Given the description of an element on the screen output the (x, y) to click on. 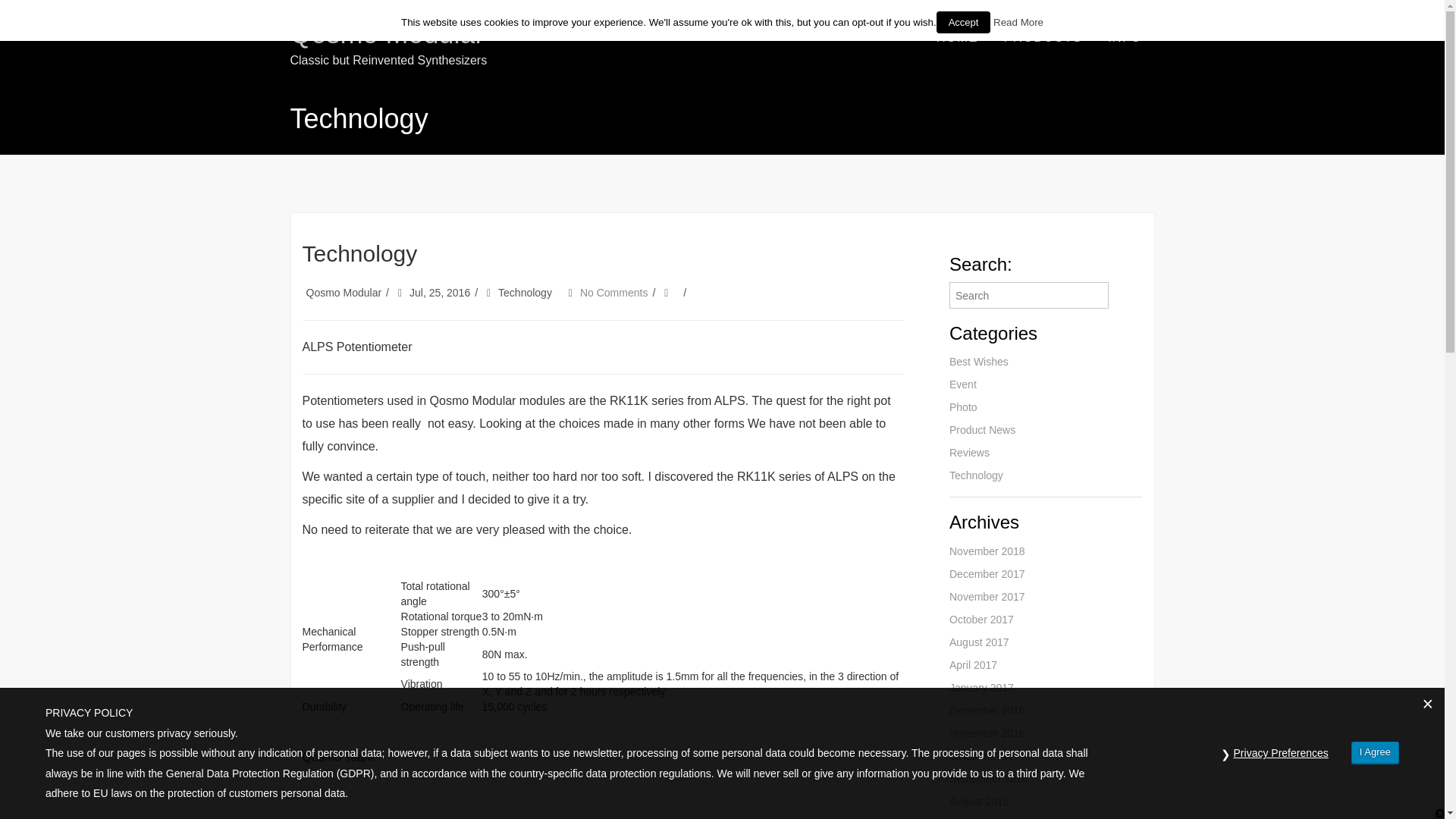
HOME (956, 37)
January 2017 (981, 687)
PRODUCTS (1042, 37)
Best Wishes (979, 361)
No Comments (613, 292)
HOME (956, 37)
Reviews (969, 452)
Technology (524, 292)
Photos of the products. (962, 407)
September 2016 (988, 778)
October 2017 (981, 619)
Search (1028, 294)
October 2016 (981, 756)
